Given the description of an element on the screen output the (x, y) to click on. 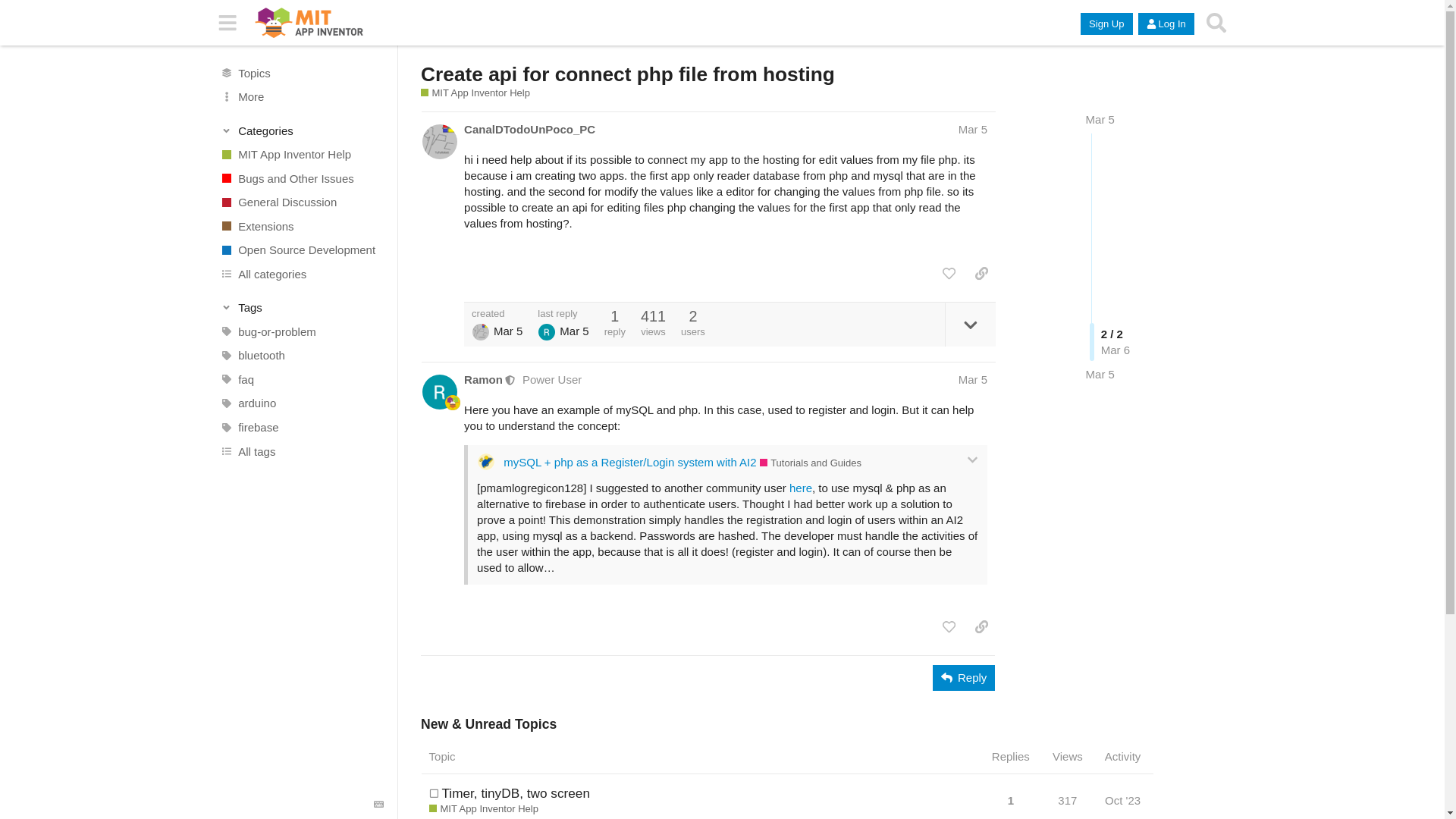
General Discussion (301, 202)
bug-or-problem (301, 331)
Create api for connect php file from hosting (627, 74)
Tags (301, 307)
Mar 5 (972, 128)
Keyboard Shortcuts (378, 805)
Toggle section (301, 307)
More (301, 96)
arduino (301, 403)
Bugs and Other Issues (301, 178)
faq (301, 379)
Mar 5 (1100, 374)
last reply (562, 313)
